Given the description of an element on the screen output the (x, y) to click on. 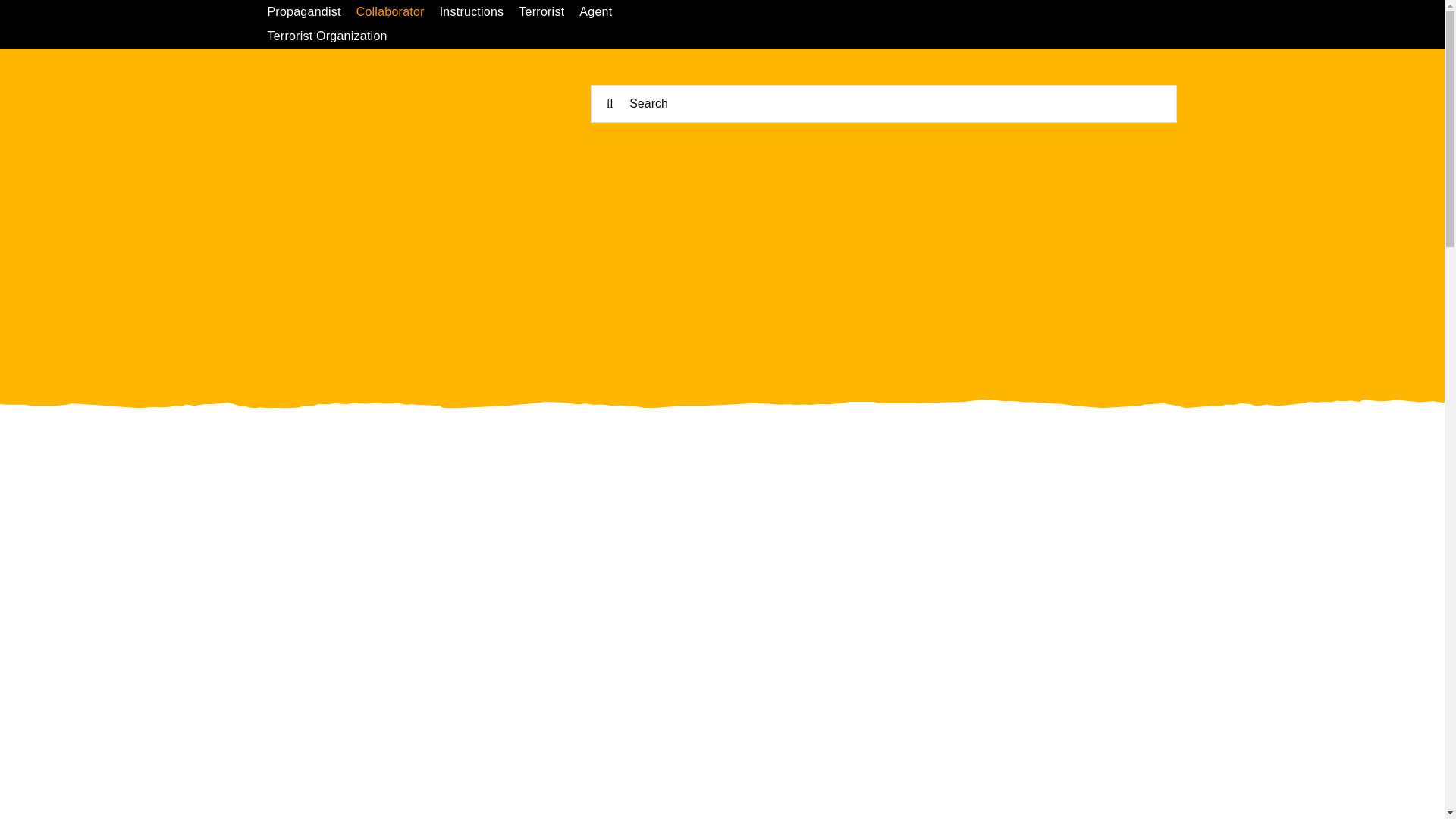
Collaborator (397, 12)
Terrorist (548, 12)
Agent (603, 12)
Propagandist (310, 12)
Terrorist Organization (333, 36)
Instructions (479, 12)
